Given the description of an element on the screen output the (x, y) to click on. 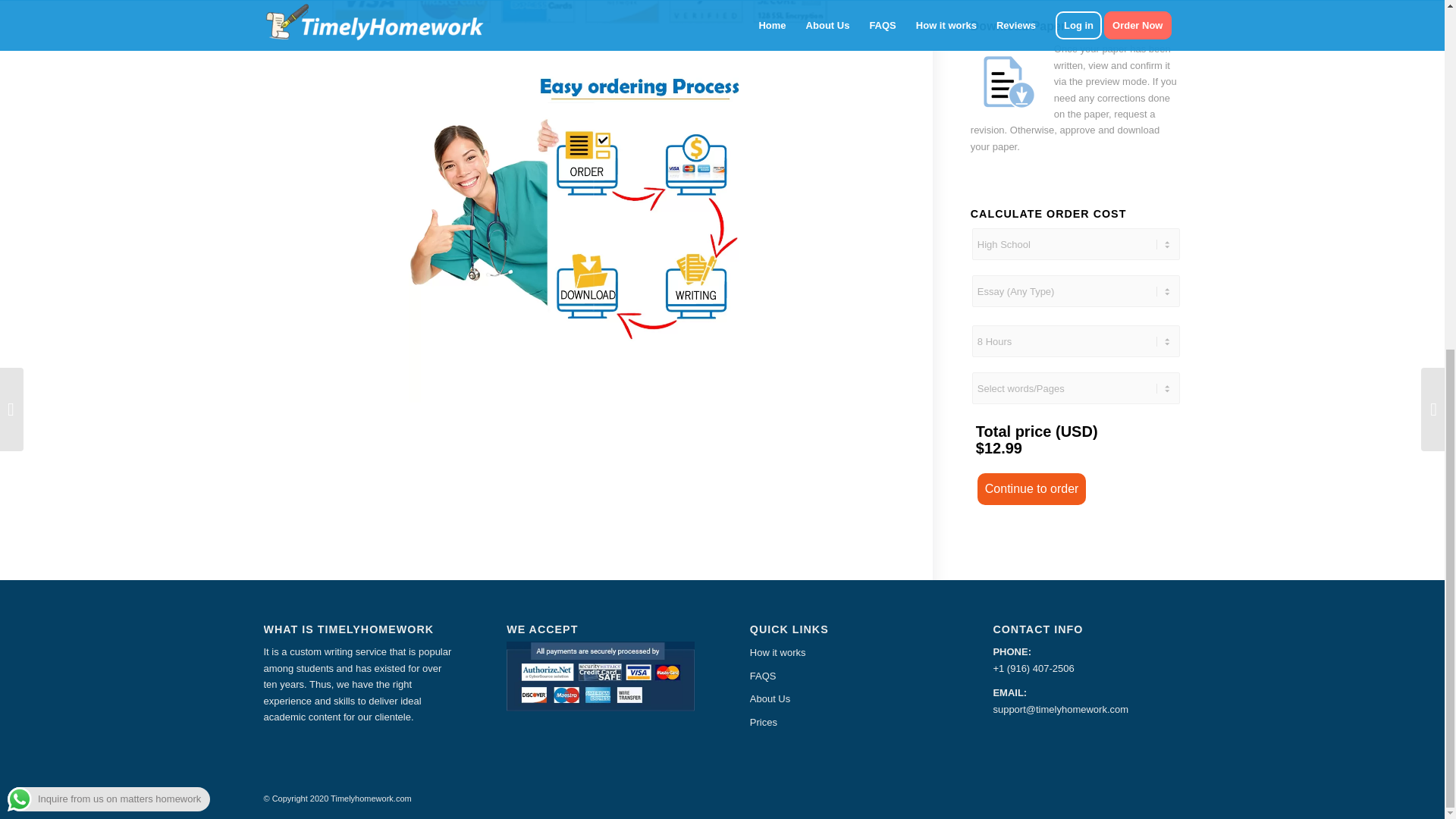
How it works (843, 652)
Prices (843, 722)
Continue to order (1031, 488)
About Us (843, 698)
FAQS (843, 676)
